Given the description of an element on the screen output the (x, y) to click on. 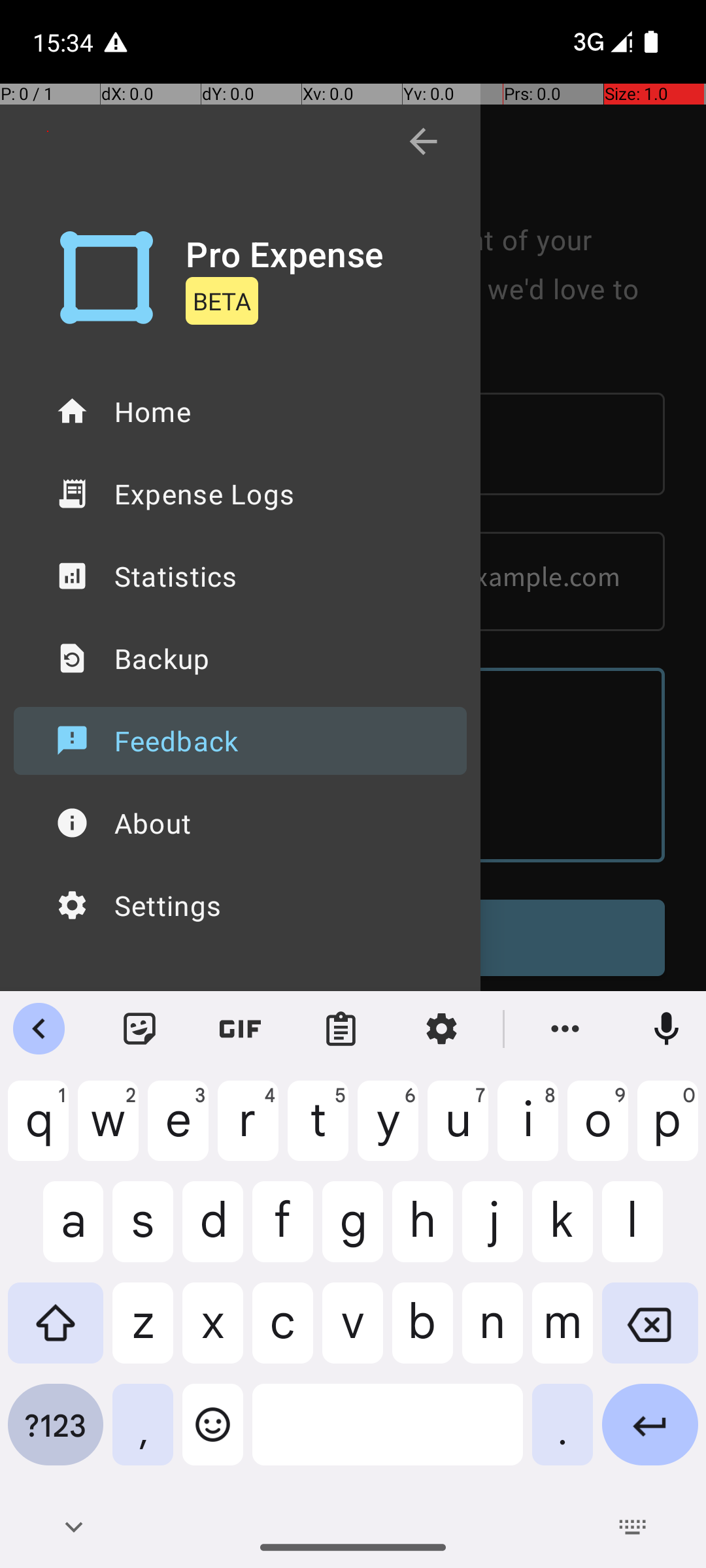
Pro Expense Element type: android.widget.TextView (284, 253)
BETA Element type: android.widget.TextView (221, 300)
Expense Logs Element type: android.widget.CheckedTextView (239, 493)
Statistics Element type: android.widget.CheckedTextView (239, 576)
Backup Element type: android.widget.CheckedTextView (239, 658)
Feedback Element type: android.widget.CheckedTextView (239, 740)
About Element type: android.widget.CheckedTextView (239, 823)
Close features menu Element type: android.widget.FrameLayout (39, 1028)
Sticker Keyboard Element type: android.widget.FrameLayout (139, 1028)
GIF Keyboard Element type: android.widget.FrameLayout (240, 1028)
More features Element type: android.widget.FrameLayout (565, 1028)
